Given the description of an element on the screen output the (x, y) to click on. 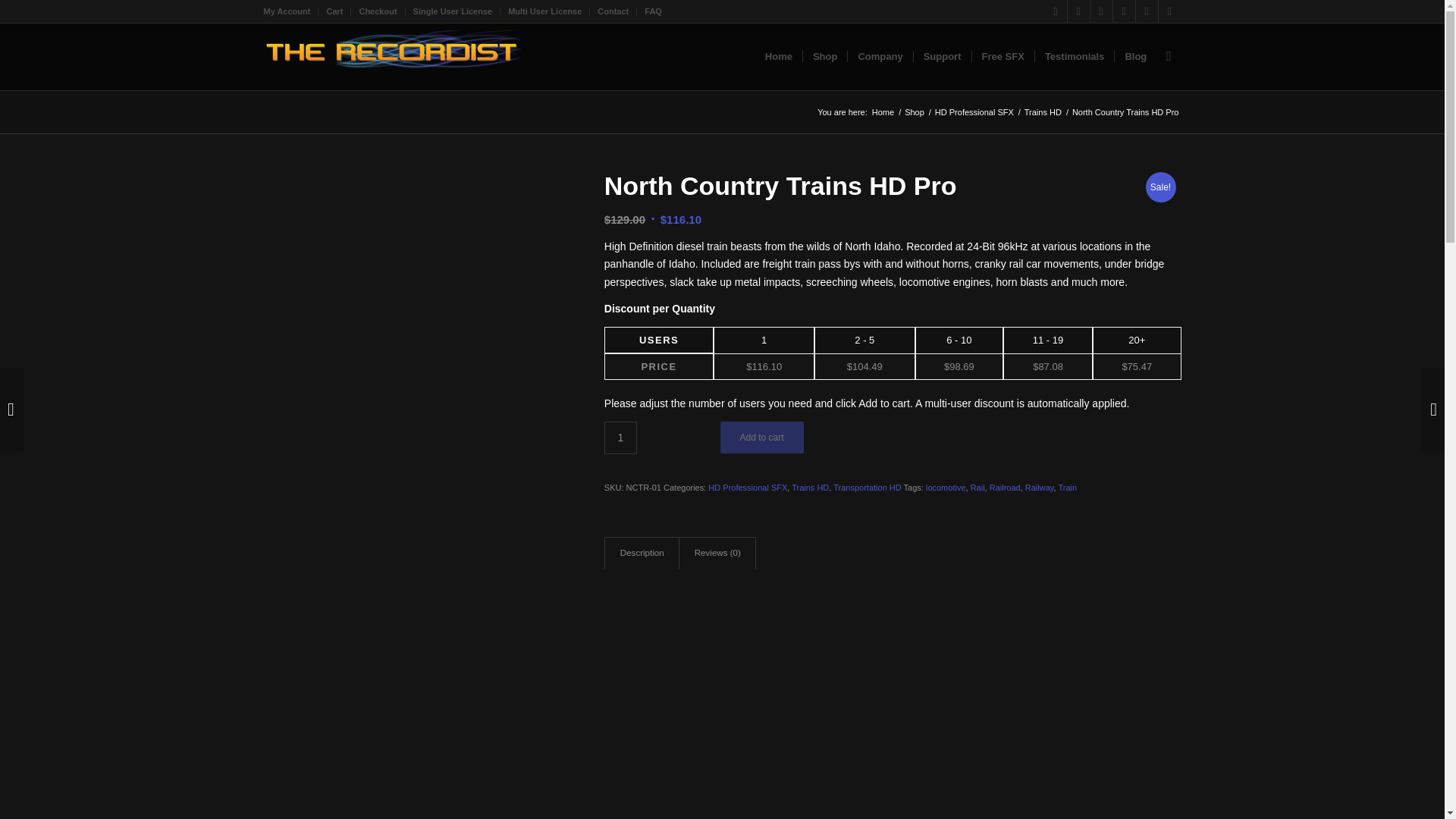
Shop (914, 112)
Facebook (1078, 11)
Checkout (377, 11)
Multi User License (544, 11)
Soundcloud (1124, 11)
Single User License (453, 11)
Twitter (1056, 11)
My Account (287, 11)
Instagram (1169, 11)
Youtube (1101, 11)
